Given the description of an element on the screen output the (x, y) to click on. 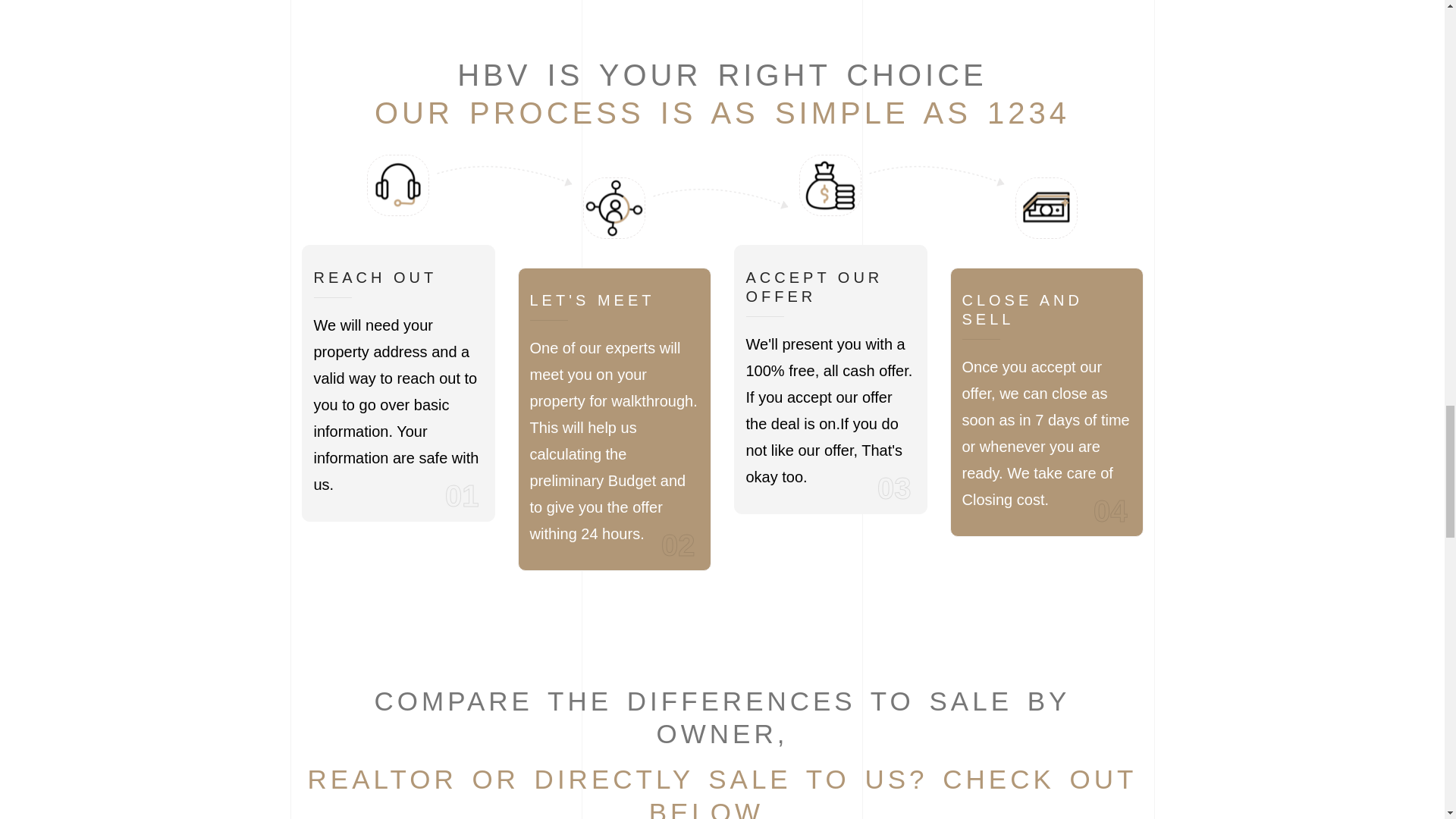
02 (678, 545)
CLOSE AND SELL (1045, 310)
REACH OUT (376, 277)
03 (894, 487)
LET'S MEET (591, 300)
01 (462, 494)
ACCEPT OUR OFFER (830, 287)
04 (1109, 510)
